Given the description of an element on the screen output the (x, y) to click on. 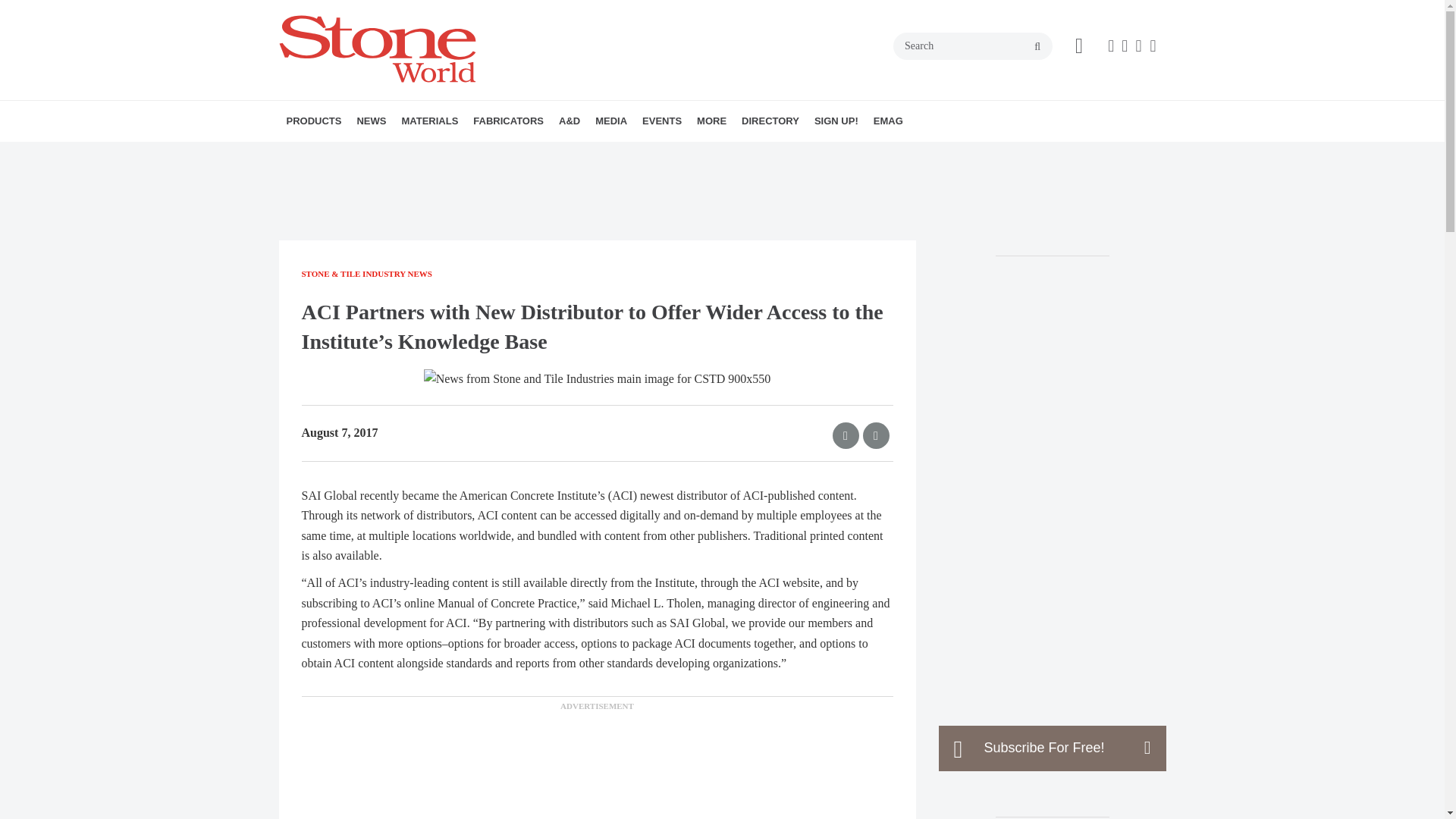
ALTERNATIVE SURFACES (488, 154)
Search (972, 45)
PRODUCTS (314, 120)
MEDIA (611, 120)
Search (972, 45)
FABRICATOR CASE STUDIES (567, 154)
MACHINERY (373, 154)
TILE (501, 154)
FABRICATOR HOW-TO (560, 154)
DIGITAL TECHNOLOGY (380, 154)
INTERIOR DESIGN (659, 154)
NEWS (371, 120)
EBOOK (695, 154)
FABRICATORS (508, 120)
PODCASTS (689, 154)
